Given the description of an element on the screen output the (x, y) to click on. 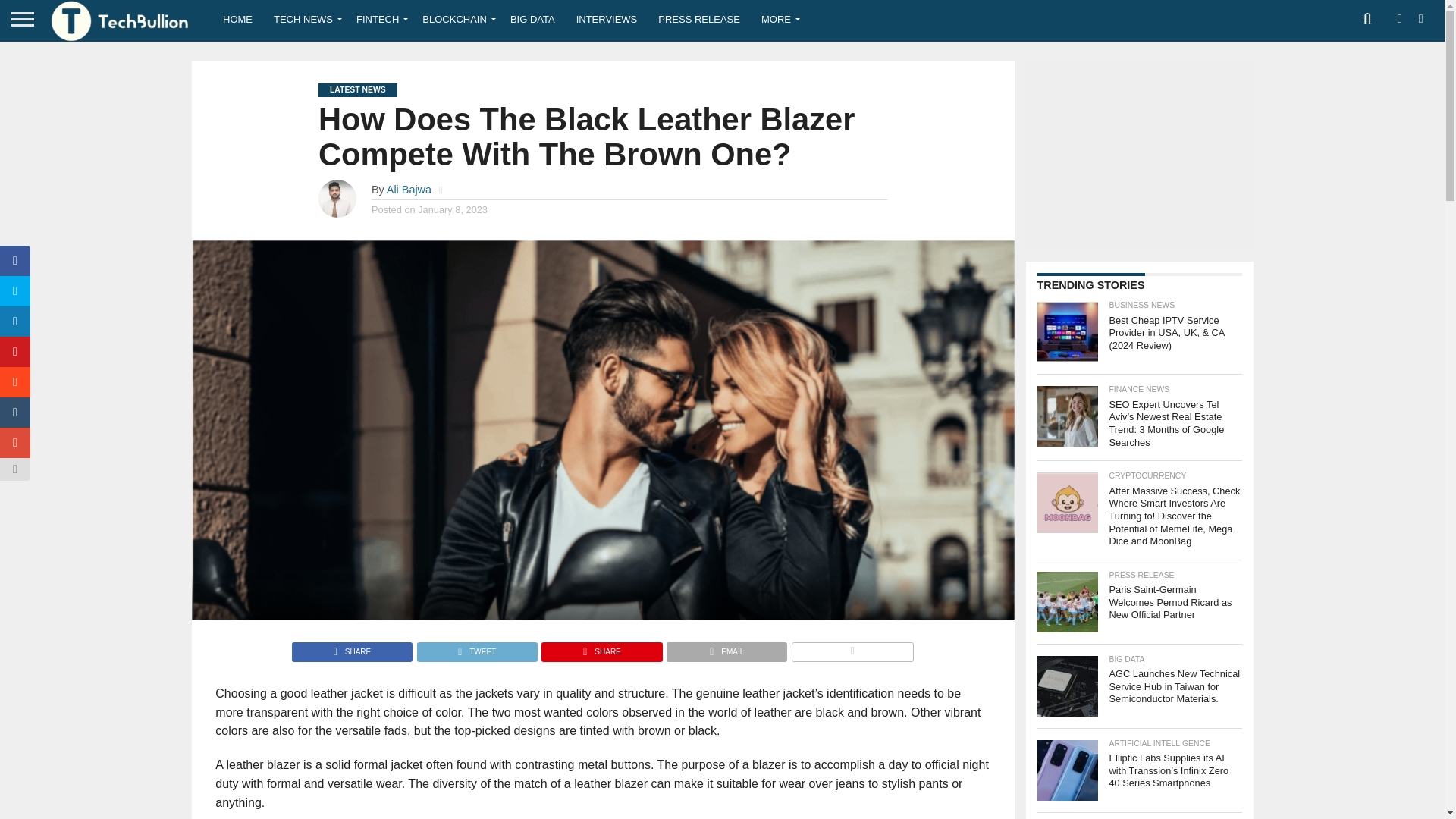
Share on Facebook (352, 647)
Tweet This Post (476, 647)
Pin This Post (601, 647)
Posts by Ali Bajwa (408, 189)
